Given the description of an element on the screen output the (x, y) to click on. 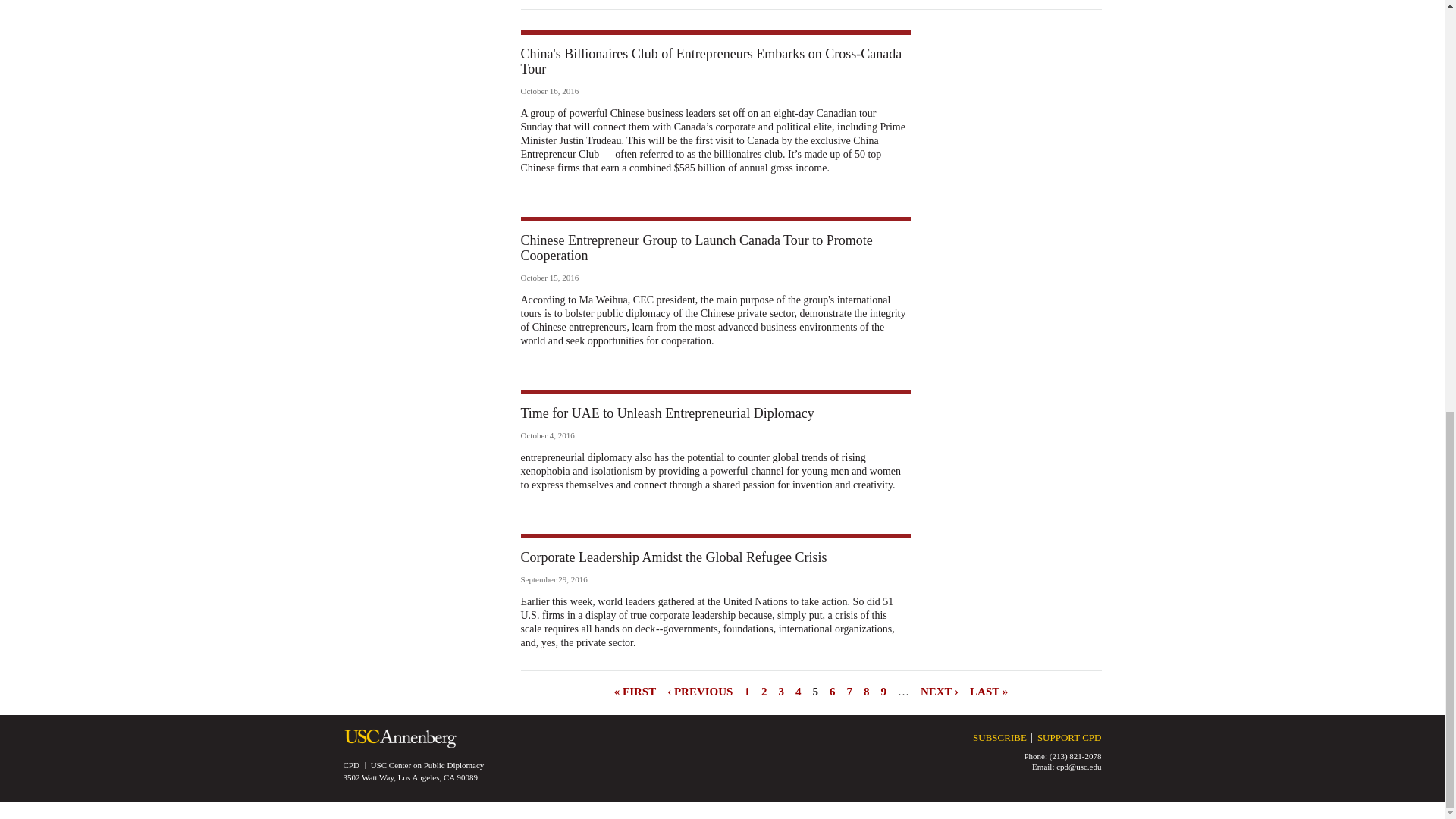
Go to first page (635, 690)
